Given the description of an element on the screen output the (x, y) to click on. 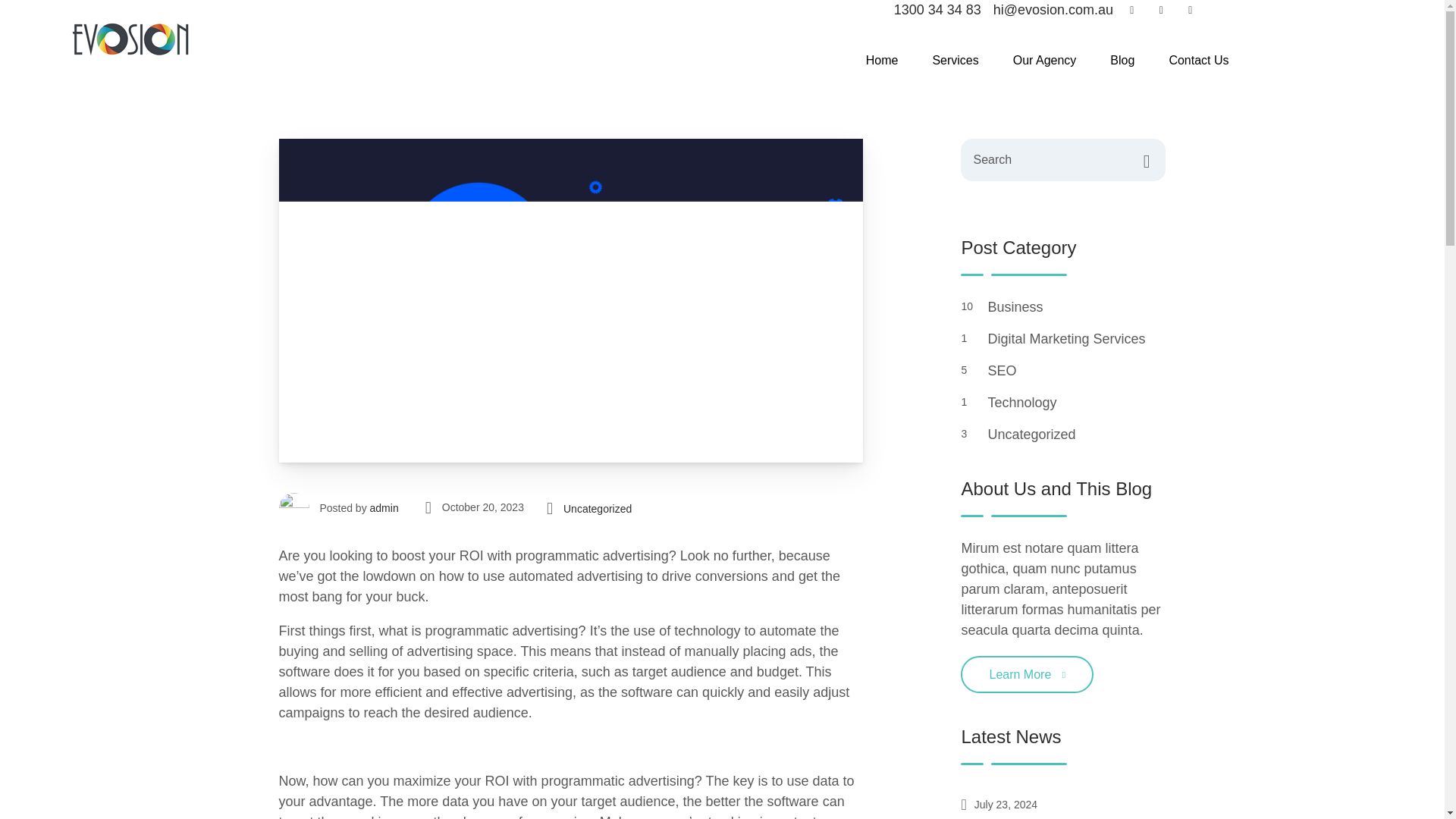
SEO (1076, 371)
Our Agency (1044, 60)
admin (383, 508)
Services (954, 60)
Home (882, 60)
Digital Marketing Services (1076, 339)
Blog (1122, 60)
Technology (1076, 403)
Uncategorized (597, 508)
admin (383, 508)
1300 34 34 83 (937, 10)
Business (1076, 307)
Contact Us (1198, 60)
